Given the description of an element on the screen output the (x, y) to click on. 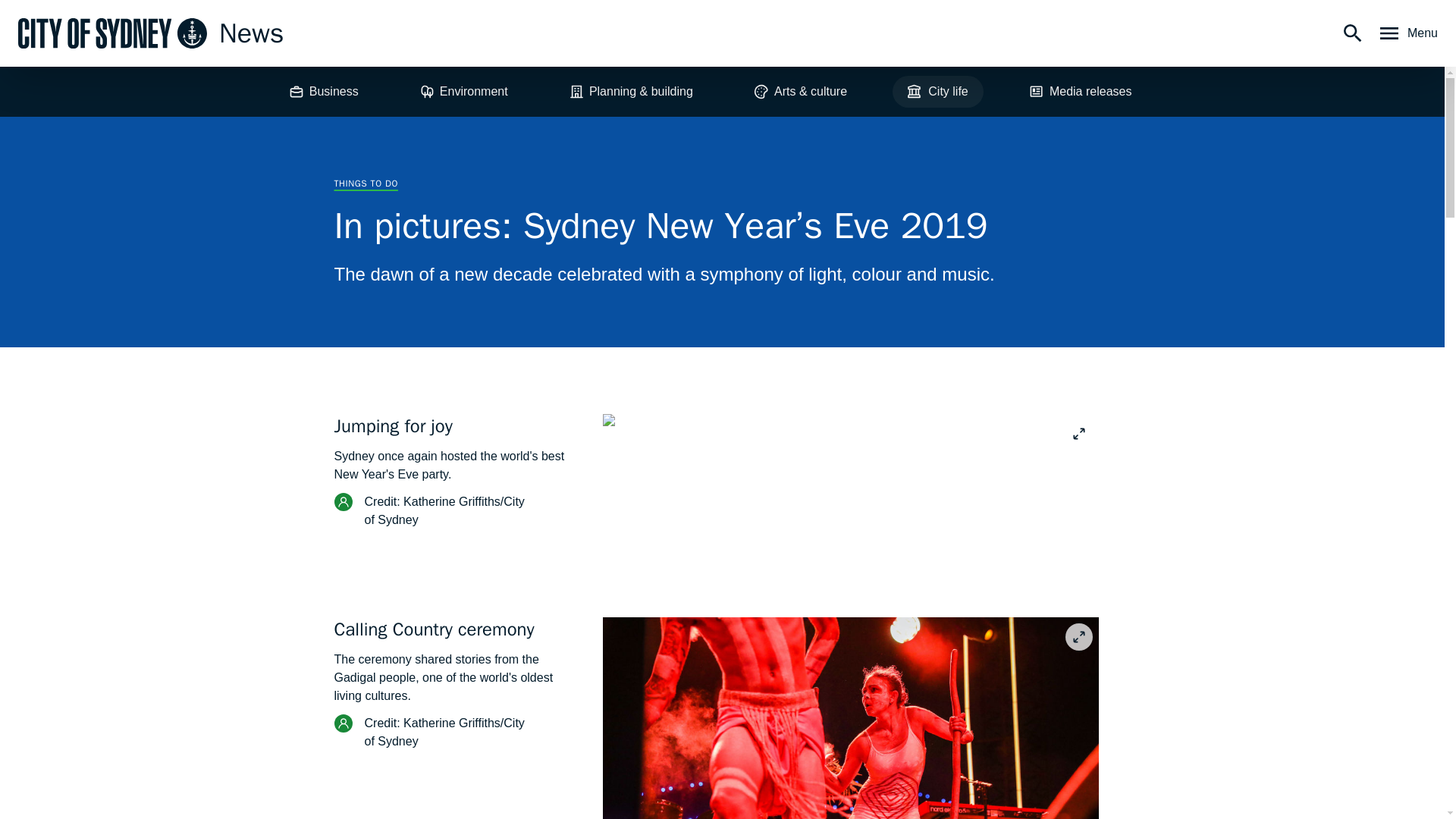
Environment (463, 91)
News (150, 33)
Media releases (1080, 91)
Search (1352, 33)
City life (938, 91)
Business (323, 91)
THINGS TO DO (365, 183)
Menu (1407, 33)
